Given the description of an element on the screen output the (x, y) to click on. 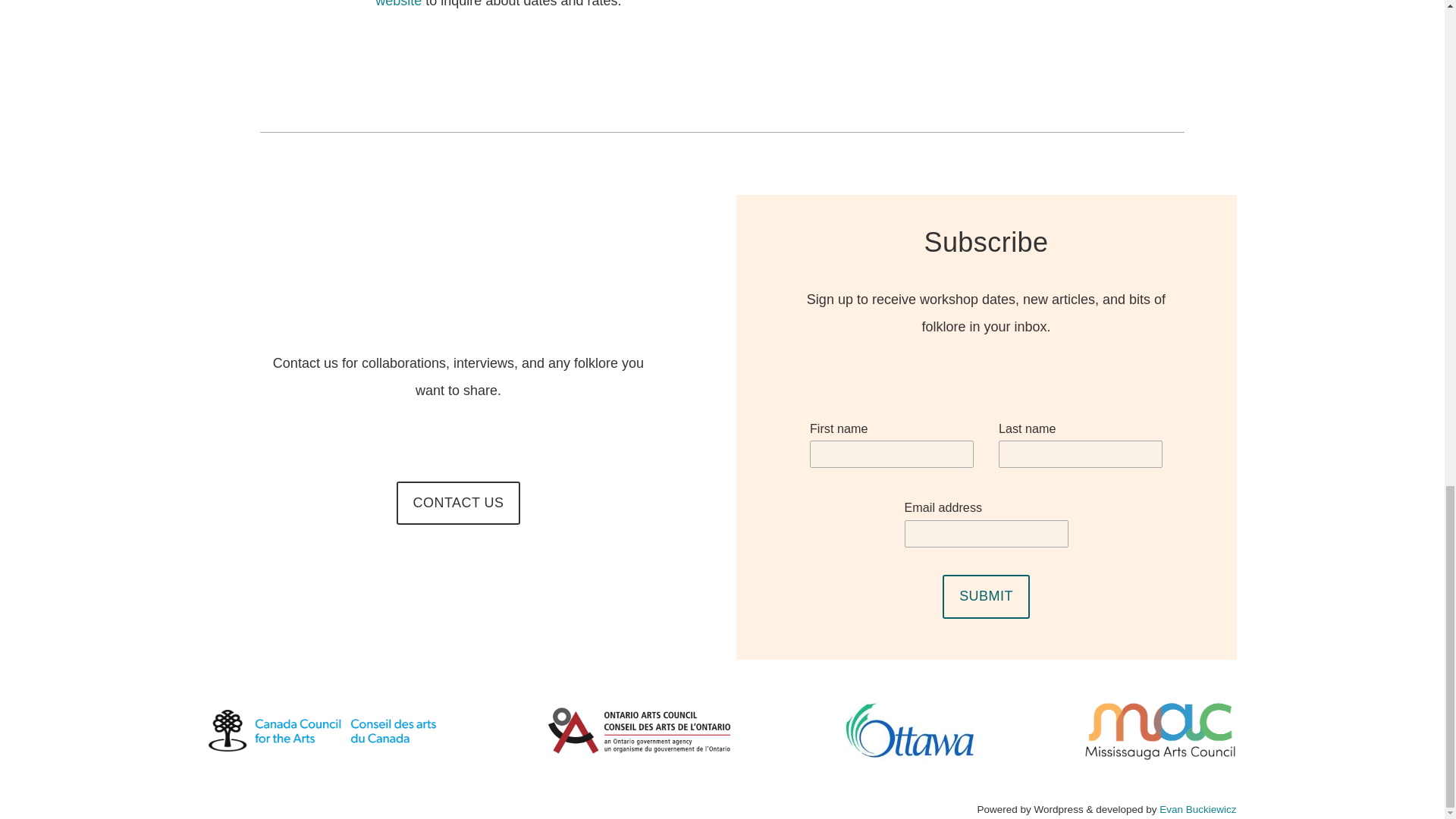
Submit (985, 596)
CONTACT US (458, 502)
Evan Buckiewicz (1197, 808)
contact us through our website (697, 4)
Submit (985, 596)
